Given the description of an element on the screen output the (x, y) to click on. 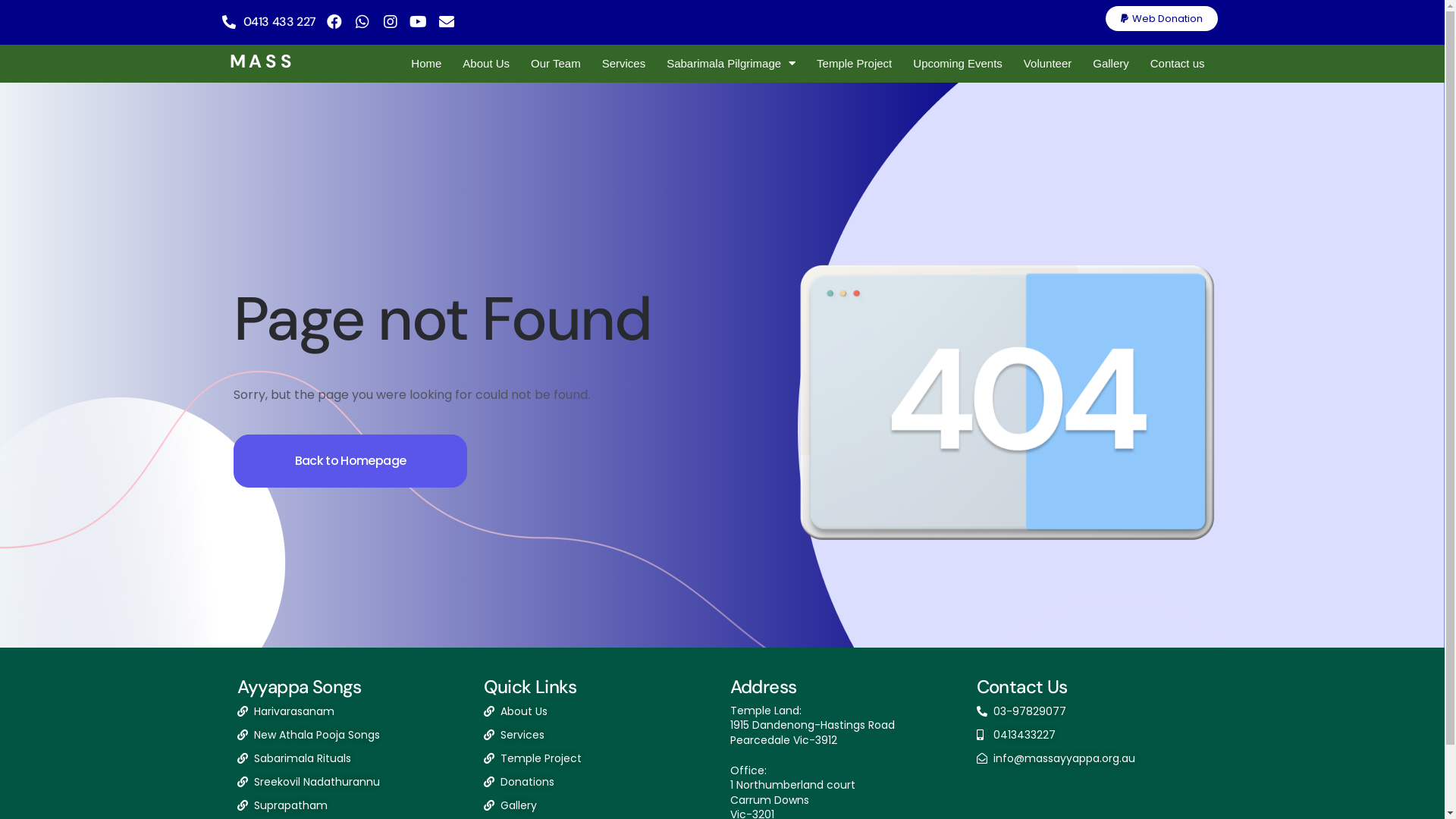
About Us Element type: text (599, 711)
Services Element type: text (599, 735)
Suprapatham Element type: text (351, 805)
0413 433 227 Element type: text (278, 21)
Home Element type: text (425, 63)
Temple Project Element type: text (854, 63)
M A S S Element type: text (260, 61)
Gallery Element type: text (1110, 63)
Contact us Element type: text (1177, 63)
Temple Project Element type: text (599, 758)
Donations Element type: text (599, 782)
Sabarimala Rituals Element type: text (351, 758)
Sreekovil Nadathurannu Element type: text (351, 782)
Sabarimala Pilgrimage Element type: text (730, 63)
Harivarasanam Element type: text (351, 711)
Volunteer Element type: text (1047, 63)
Web Donation Element type: text (1161, 18)
New Athala Pooja Songs Element type: text (351, 735)
Our Team Element type: text (555, 63)
Gallery Element type: text (599, 805)
Services Element type: text (623, 63)
Upcoming Events Element type: text (957, 63)
About Us Element type: text (485, 63)
Back to Homepage Element type: text (350, 460)
